Given the description of an element on the screen output the (x, y) to click on. 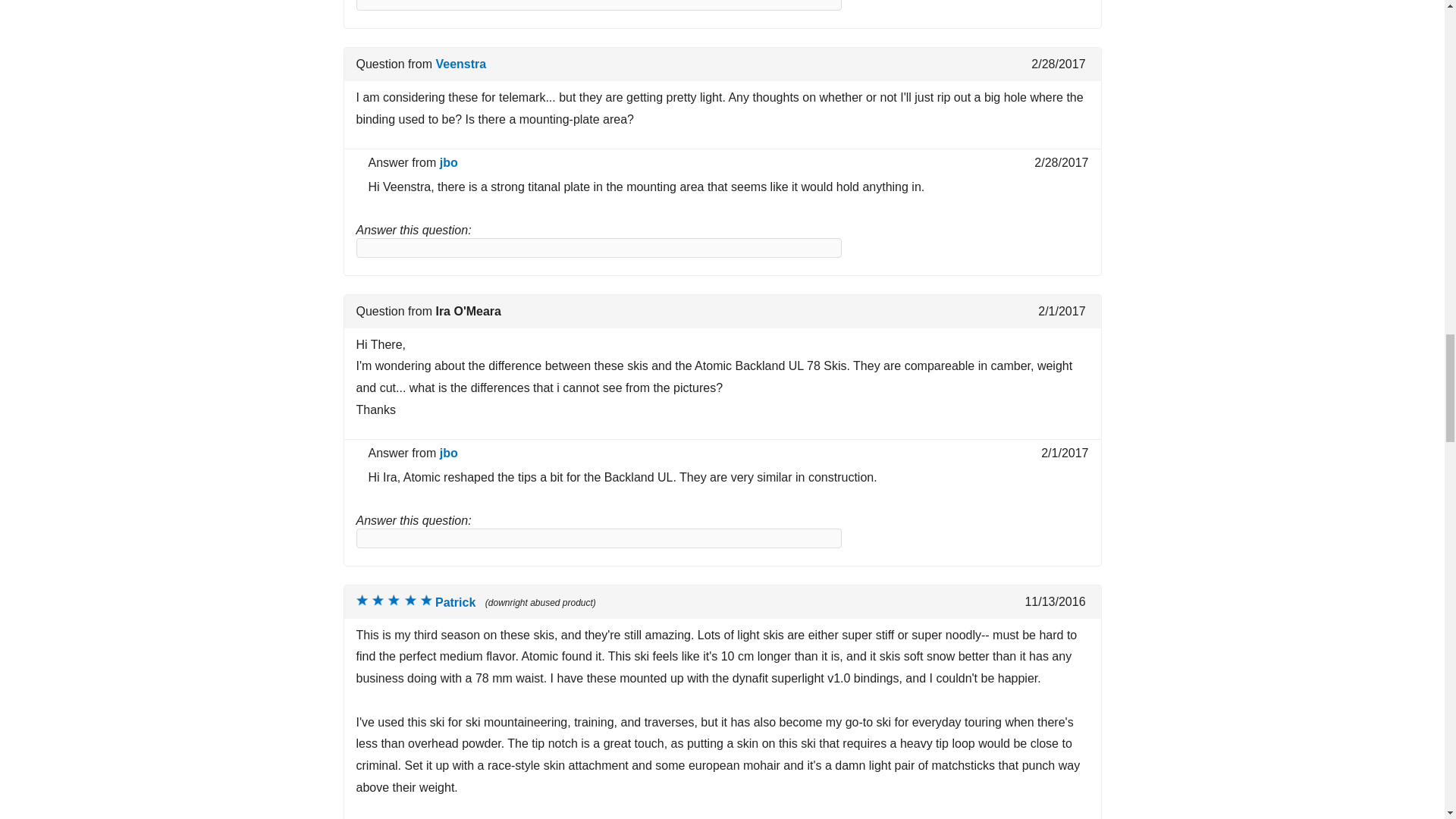
downright abused product (394, 600)
